Given the description of an element on the screen output the (x, y) to click on. 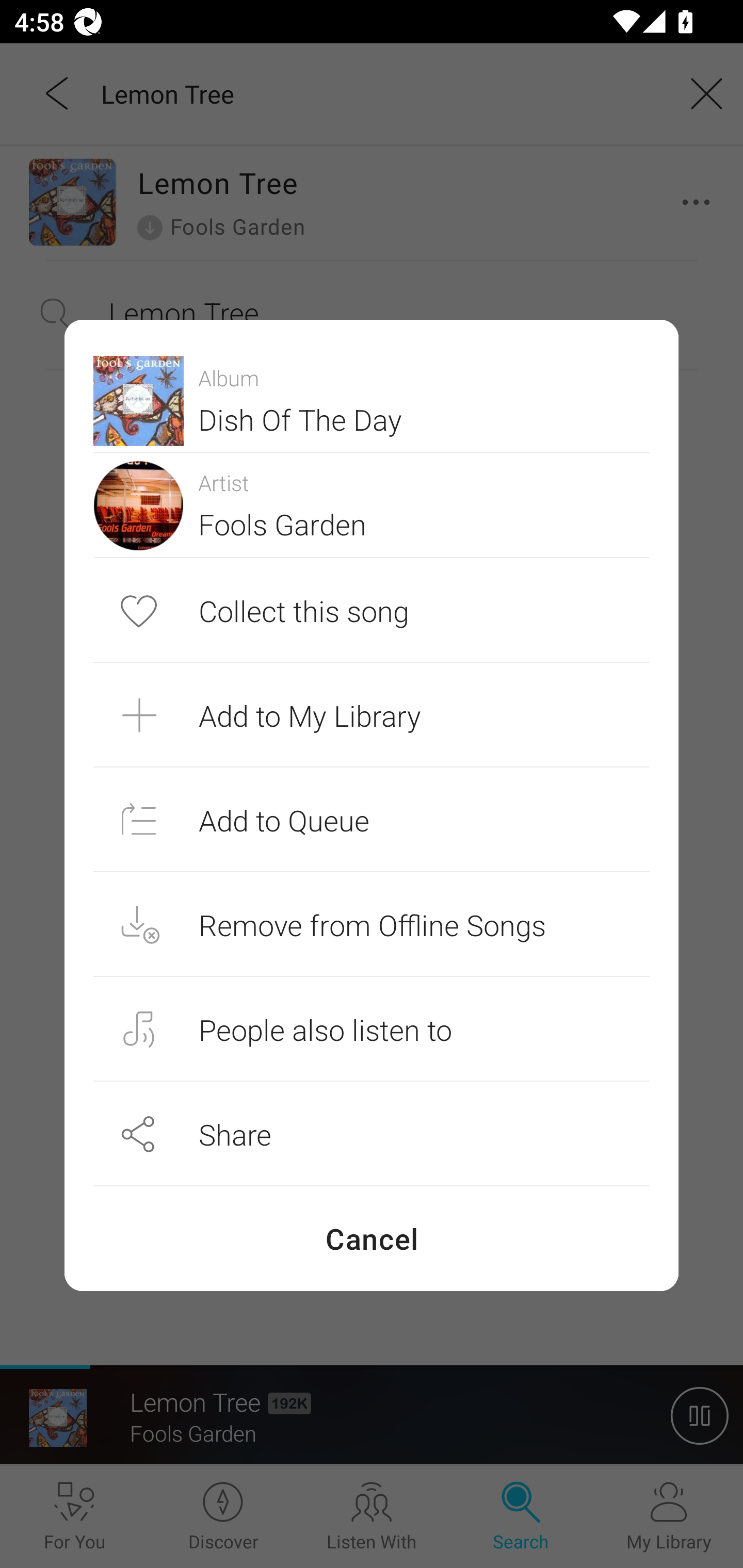
Album Dish Of The Day (371, 400)
Artist Fools Garden (371, 505)
Collect this song (371, 610)
Add to My Library (371, 714)
Add to Queue (371, 818)
Remove from Offline Songs (371, 923)
People also listen to (371, 1028)
Share (371, 1133)
Cancel (371, 1238)
